Given the description of an element on the screen output the (x, y) to click on. 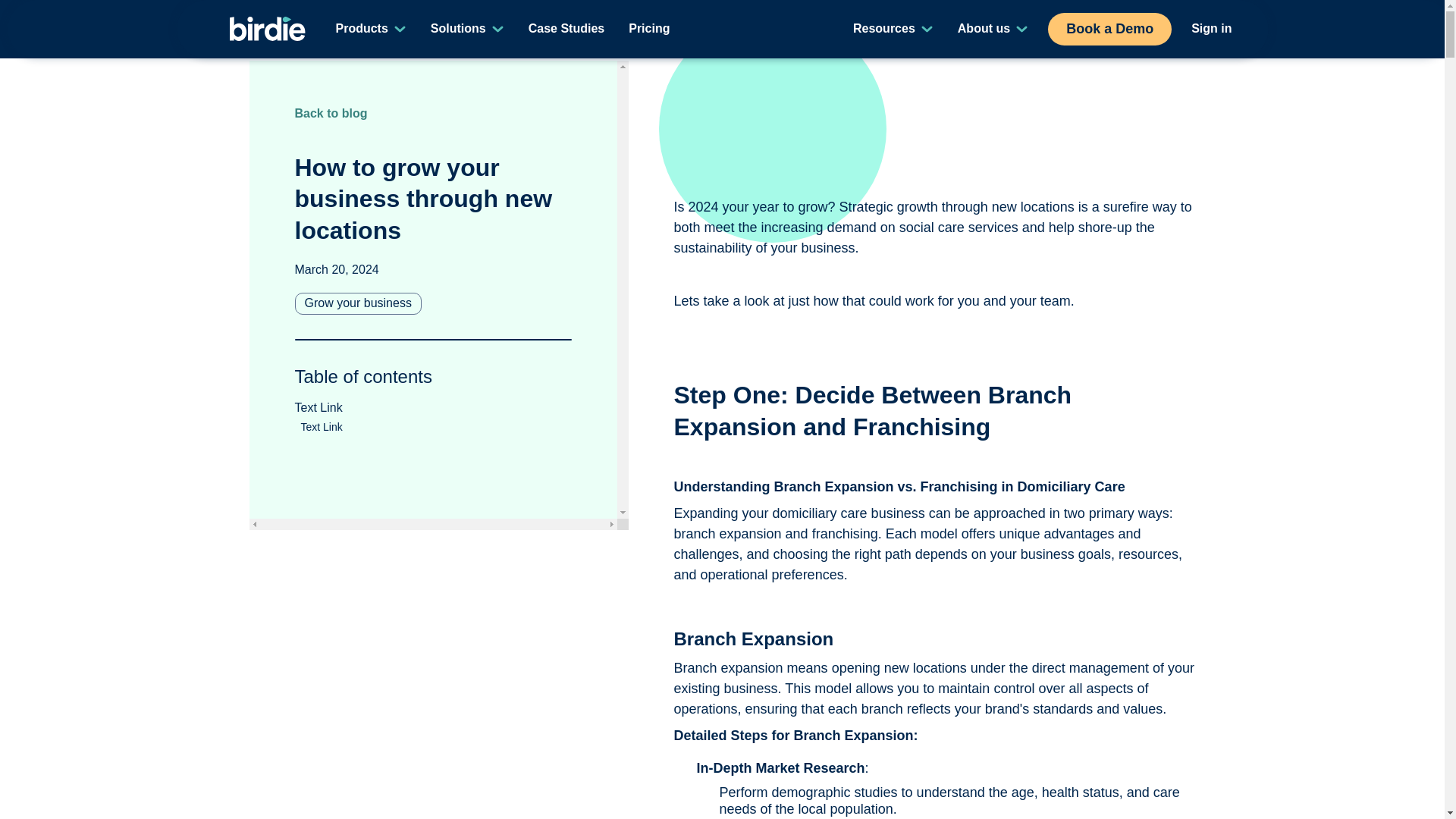
Case Studies (318, 417)
Pricing (565, 29)
